Given the description of an element on the screen output the (x, y) to click on. 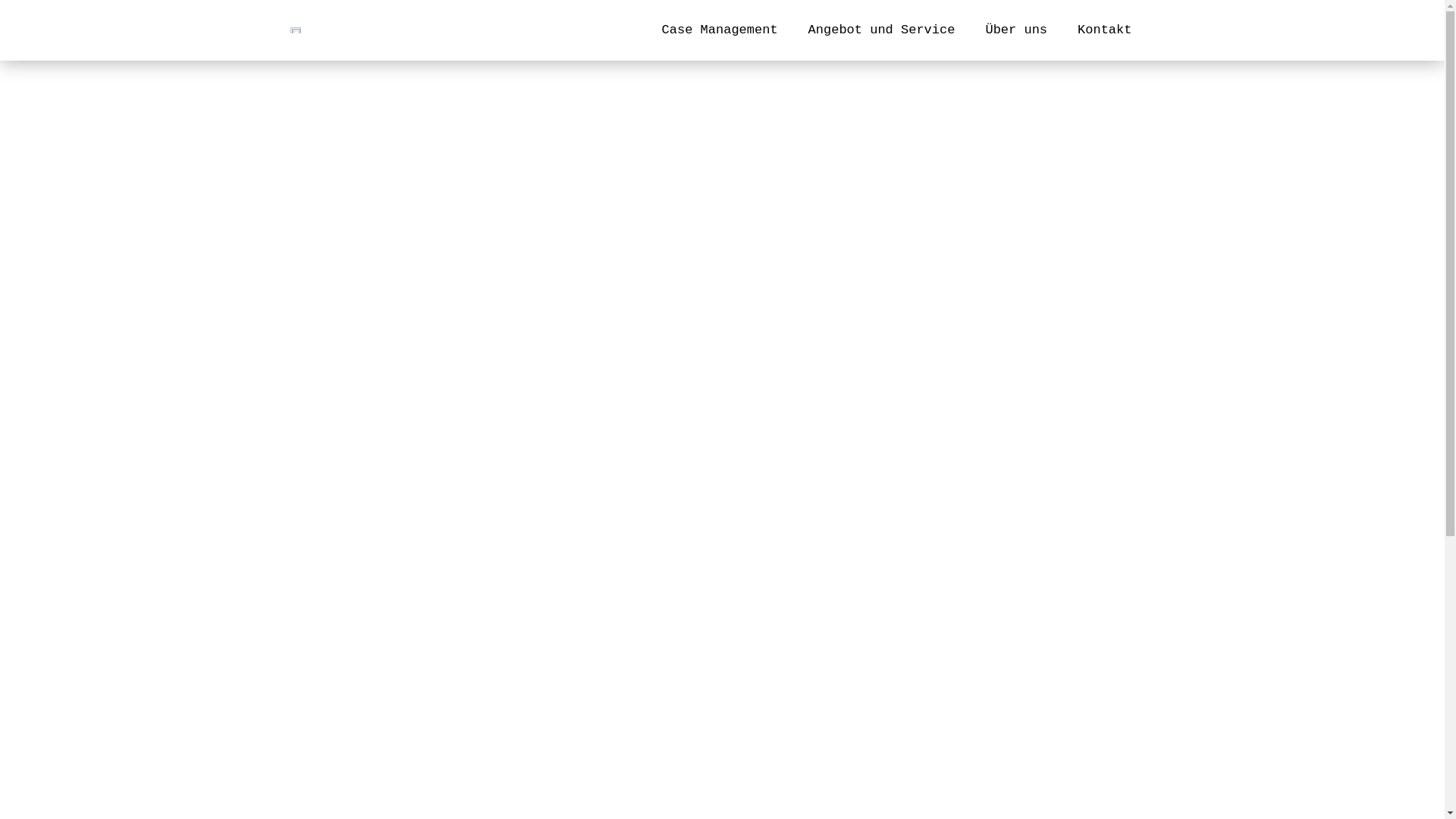
Case Management Element type: text (719, 30)
Angebot und Service Element type: text (881, 30)
Kontakt Element type: text (1104, 30)
